Given the description of an element on the screen output the (x, y) to click on. 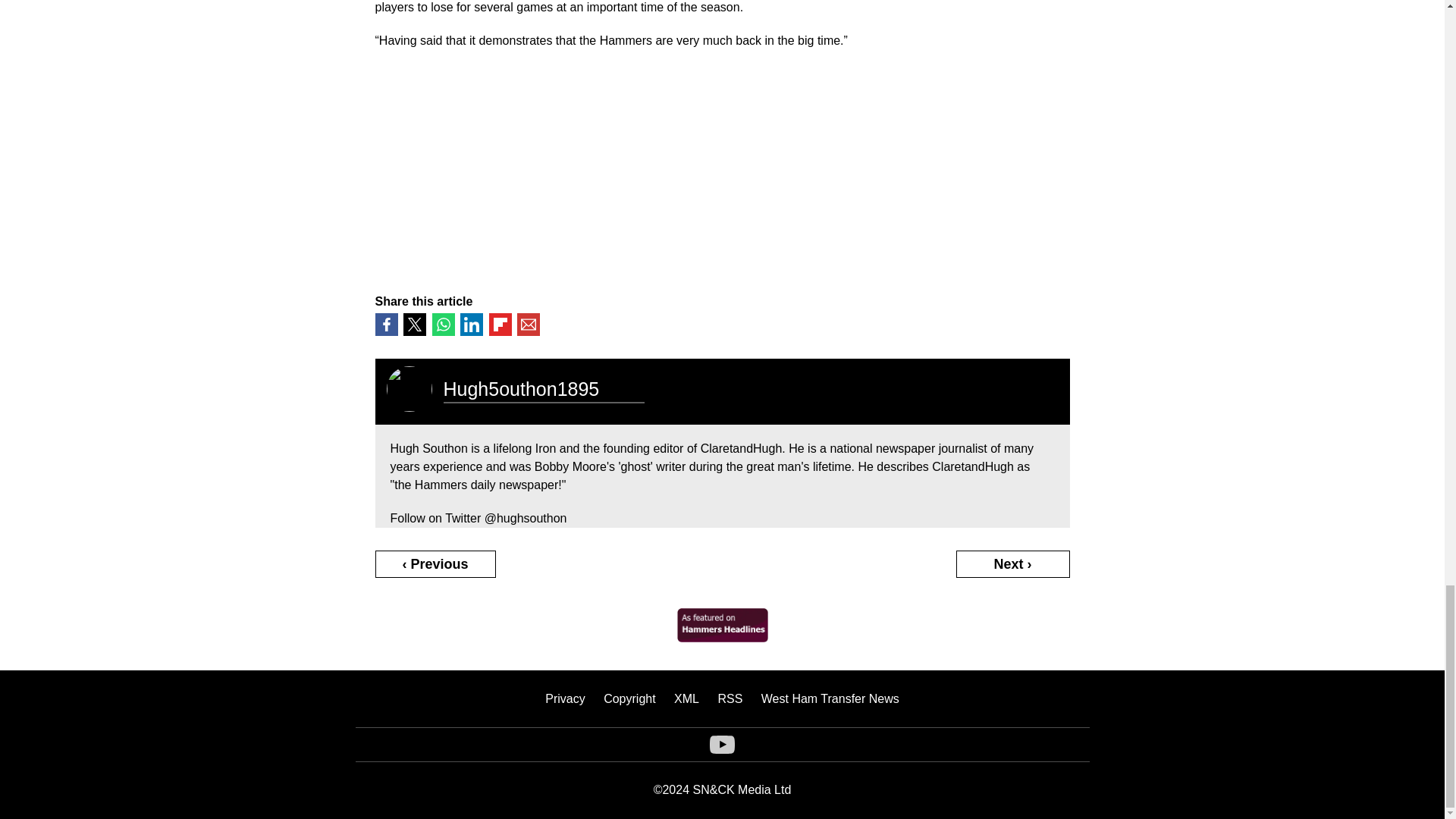
share on LinkedIn (471, 323)
share on Facebook (385, 323)
share on Twitter (414, 323)
West Ham News (722, 637)
share on Flipboard (499, 323)
share on WhatsApp (443, 323)
